Given the description of an element on the screen output the (x, y) to click on. 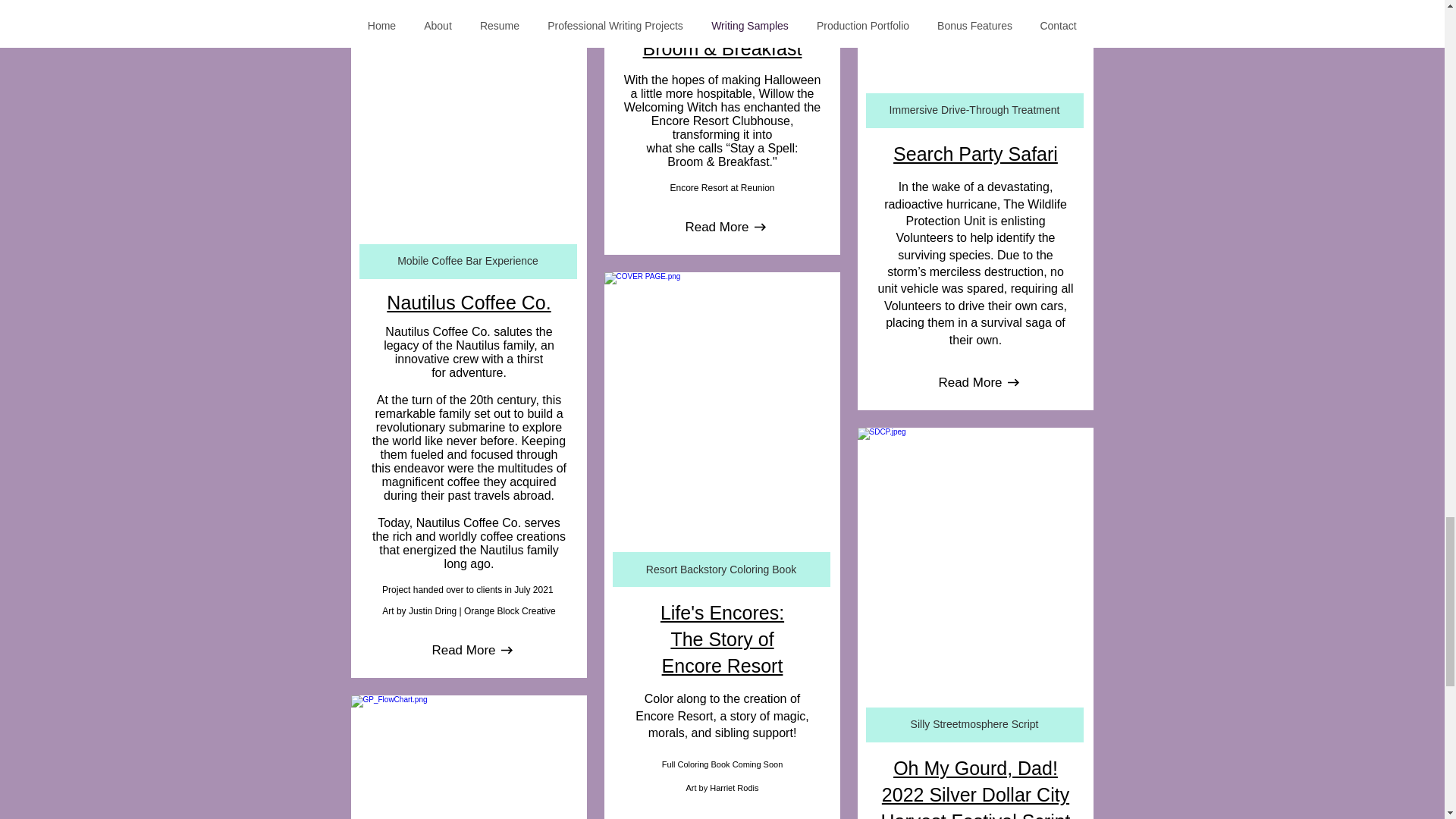
Nautilus Coffee Co. (468, 301)
Read More (463, 650)
Mobile Coffee Bar Experience (467, 261)
